Given the description of an element on the screen output the (x, y) to click on. 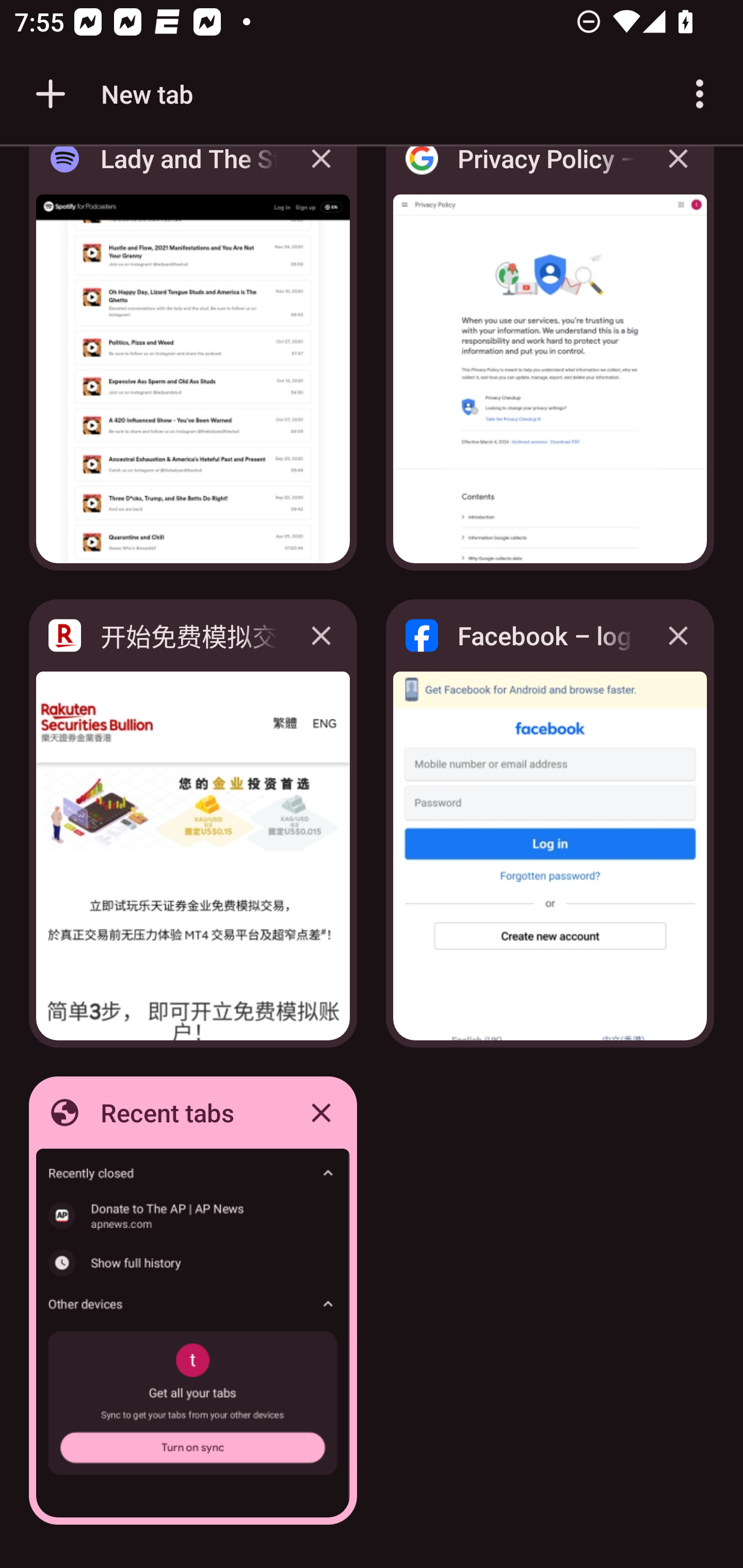
New tab (111, 93)
Customize and control Google Chrome (699, 93)
Close 开始免费模拟交易 | 乐天证券金业 tab (320, 635)
Close Facebook – log in or sign up tab (677, 635)
Recent tabs Recent tabs, tab Close Recent tabs tab (192, 1300)
Close Recent tabs tab (320, 1112)
